Given the description of an element on the screen output the (x, y) to click on. 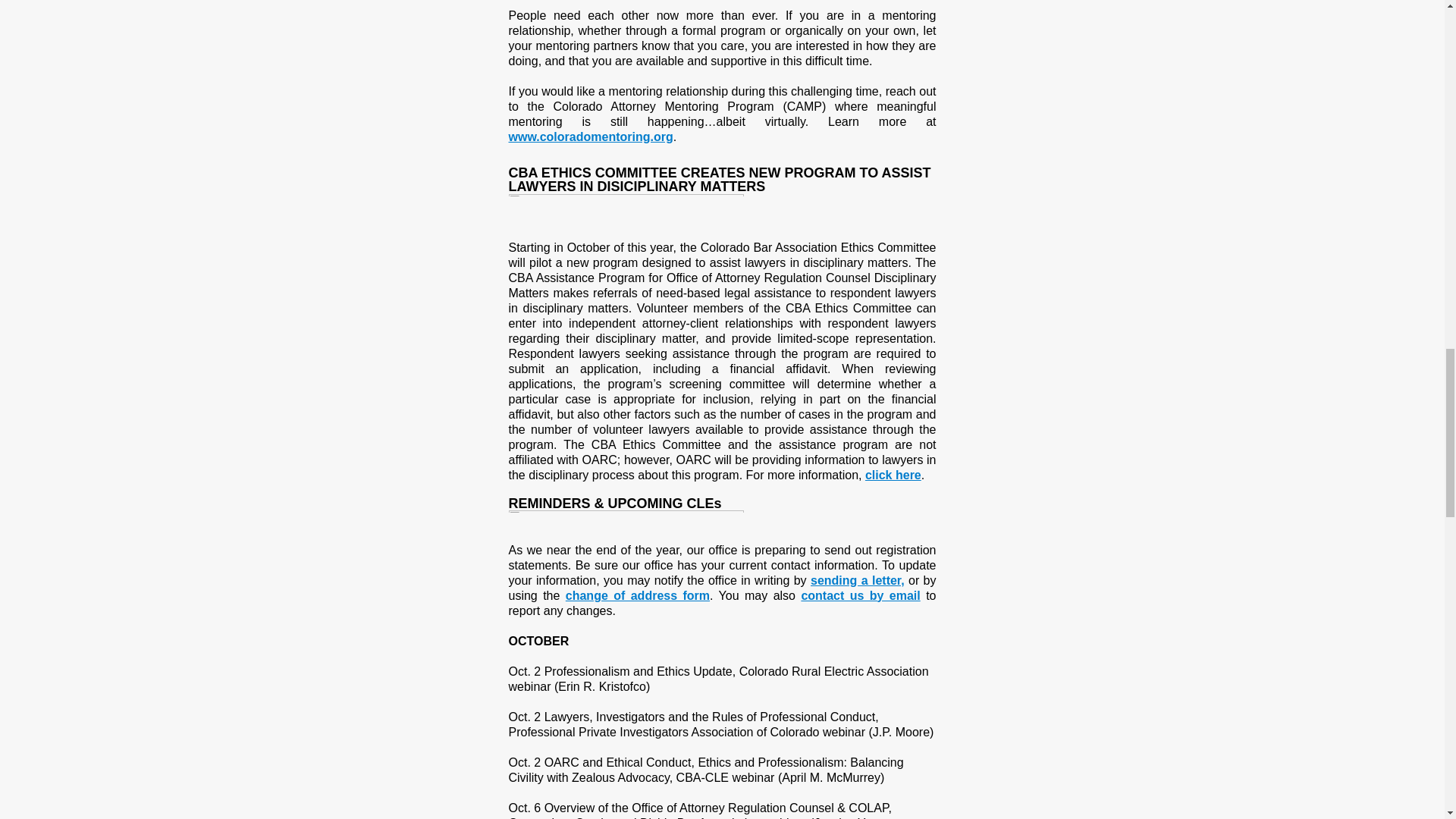
click here (892, 474)
contact us by email (860, 594)
www.coloradomentoring.org (590, 136)
change of address form (638, 594)
sending a letter, (857, 579)
